Given the description of an element on the screen output the (x, y) to click on. 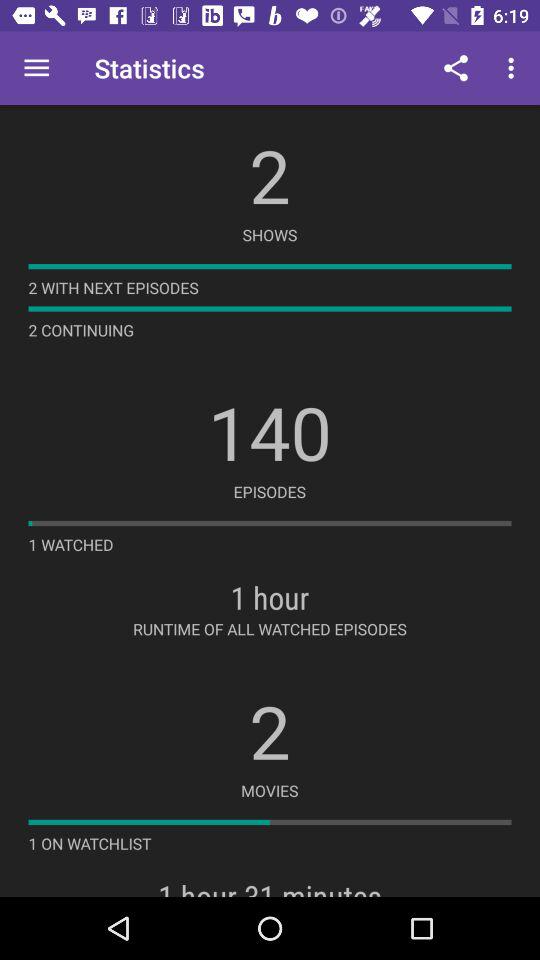
turn on the icon at the bottom left corner (89, 843)
